Given the description of an element on the screen output the (x, y) to click on. 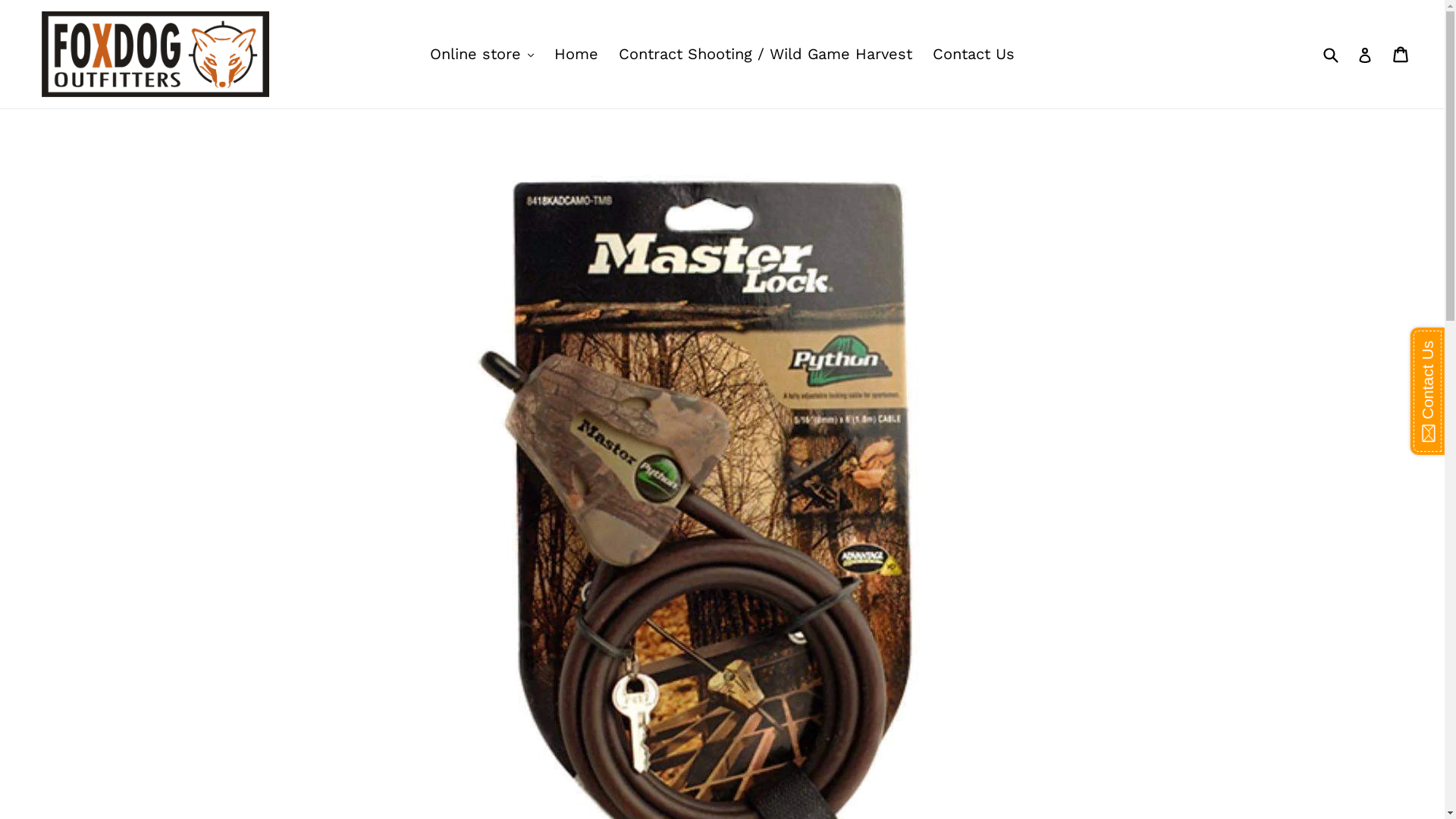
Submit Element type: text (1329, 53)
Home Element type: text (575, 53)
Contract Shooting / Wild Game Harvest Element type: text (765, 53)
Log in Element type: text (1364, 53)
Contact Us Element type: text (973, 53)
Cart
Cart Element type: text (1401, 53)
